Given the description of an element on the screen output the (x, y) to click on. 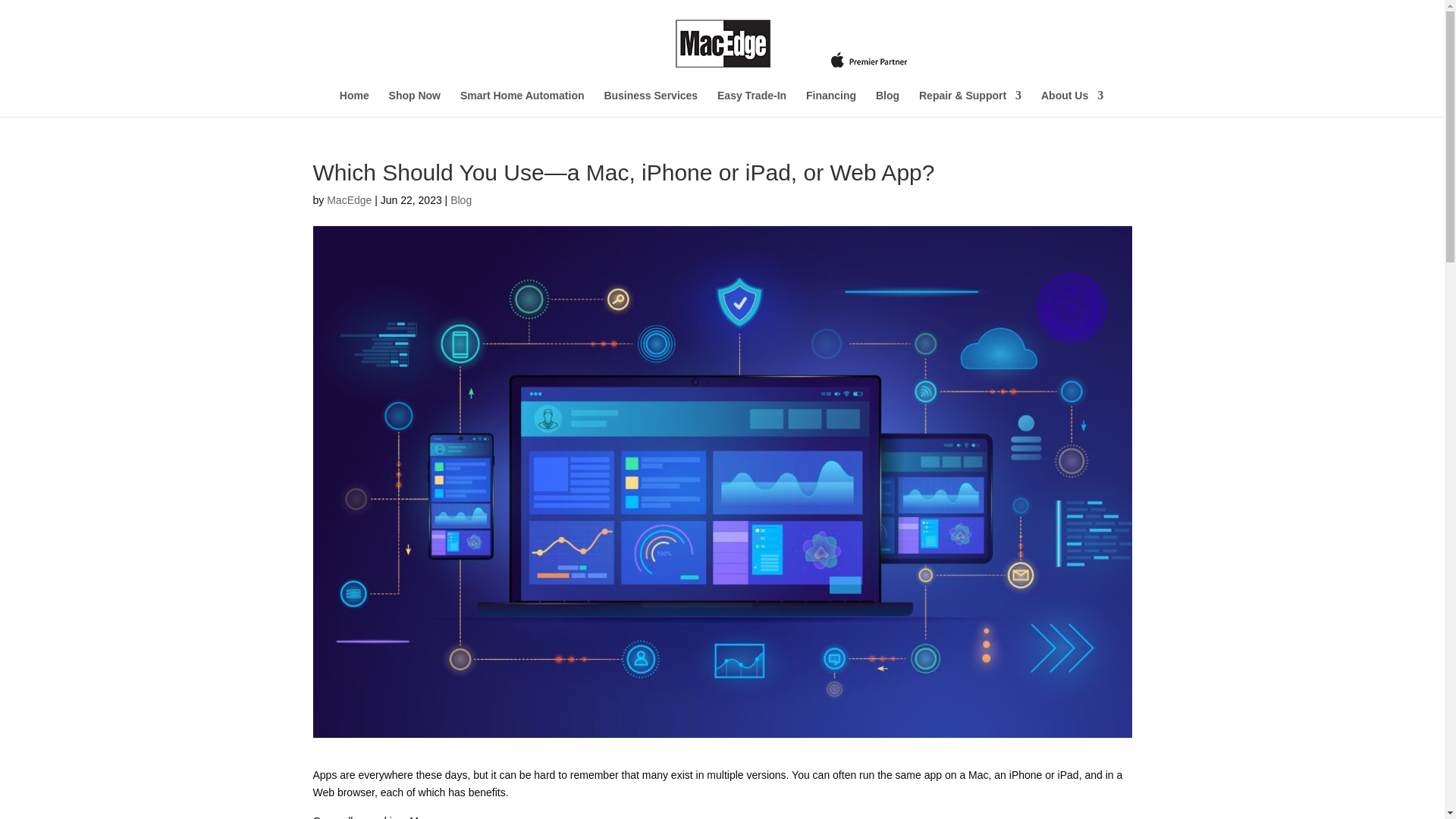
Posts by MacEdge (348, 200)
MacEdge (348, 200)
Easy Trade-In (751, 103)
Business Services (650, 103)
Smart Home Automation (522, 103)
Financing (831, 103)
About Us (1072, 103)
Shop Now (414, 103)
Blog (460, 200)
Home (354, 103)
